Given the description of an element on the screen output the (x, y) to click on. 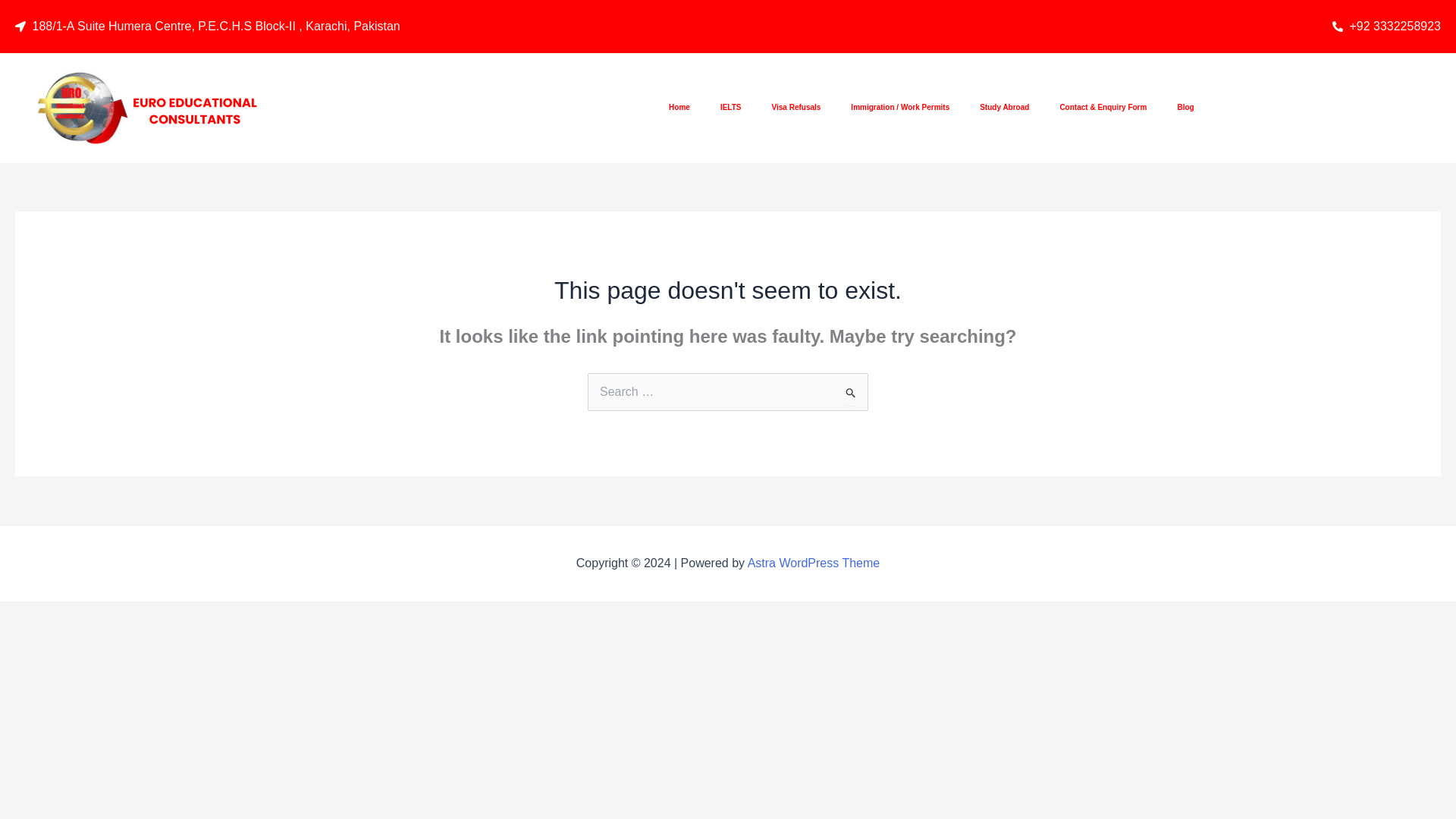
Visa Refusals (796, 107)
Home (678, 107)
IELTS (730, 107)
Blog (1184, 107)
Study Abroad (1003, 107)
